Given the description of an element on the screen output the (x, y) to click on. 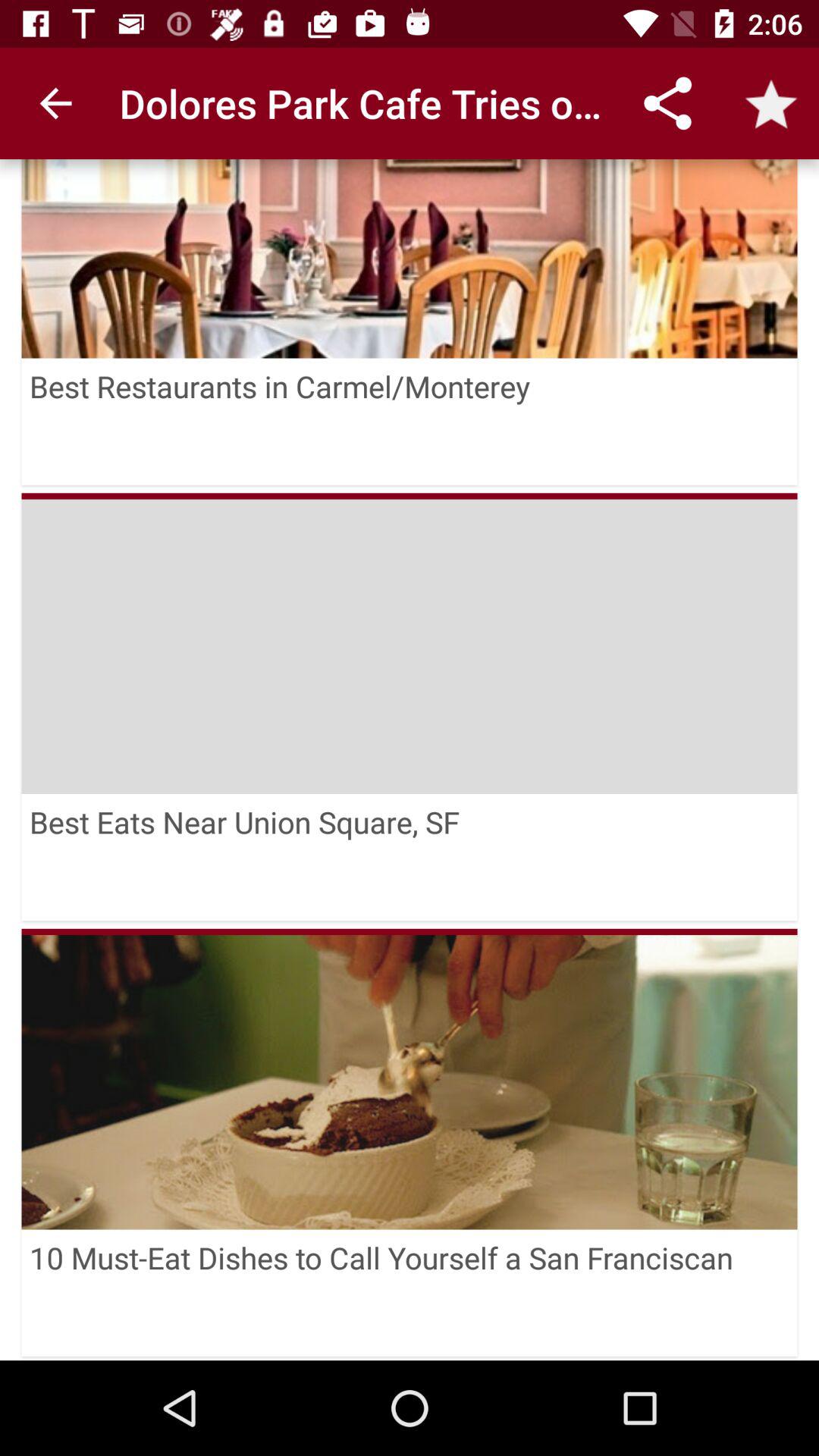
press item below best restaurants in item (409, 496)
